Given the description of an element on the screen output the (x, y) to click on. 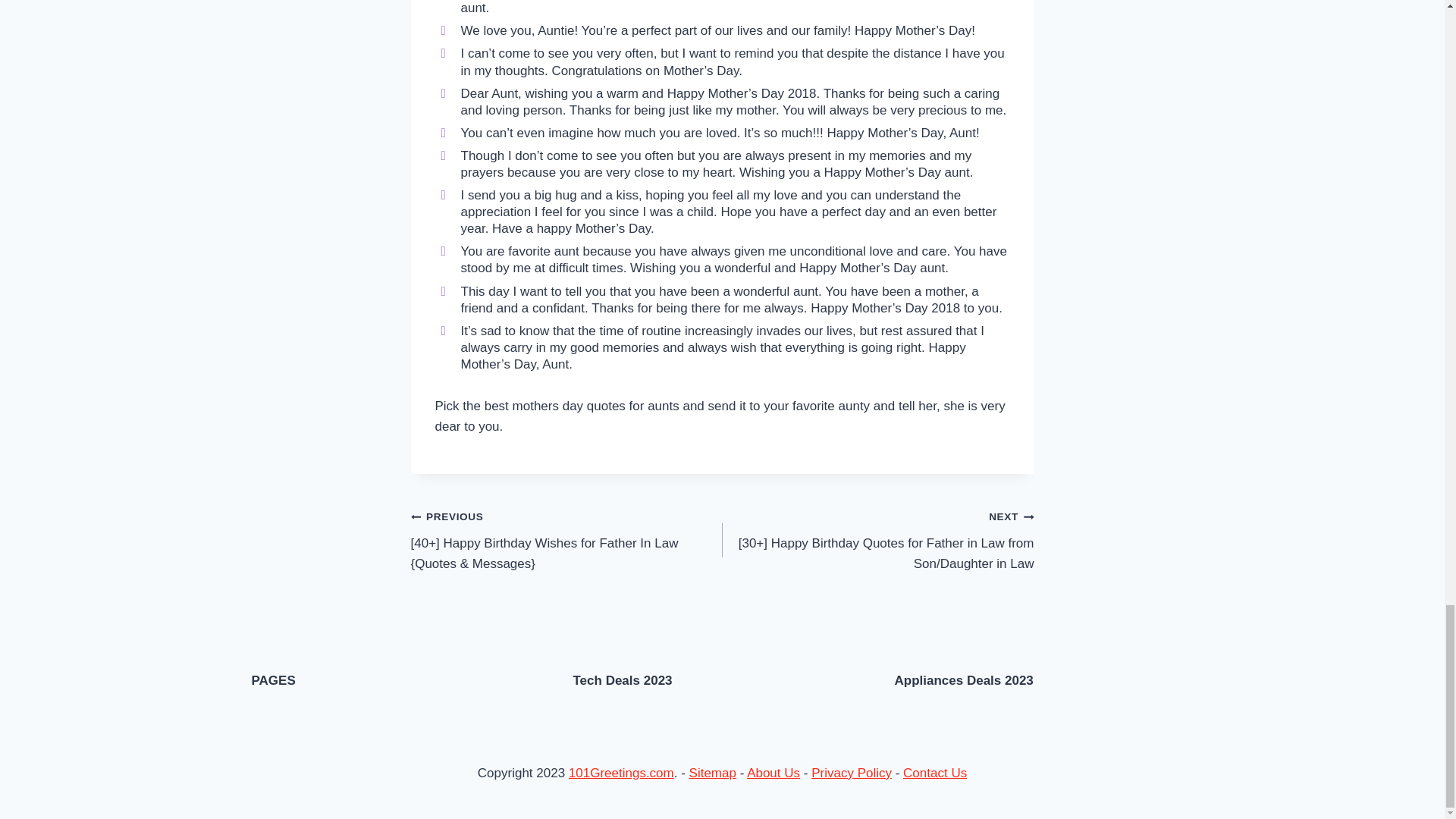
Contact Us (934, 772)
About Us (772, 772)
Sitemap (712, 772)
101Greetings.com (621, 772)
Privacy Policy (850, 772)
